Given the description of an element on the screen output the (x, y) to click on. 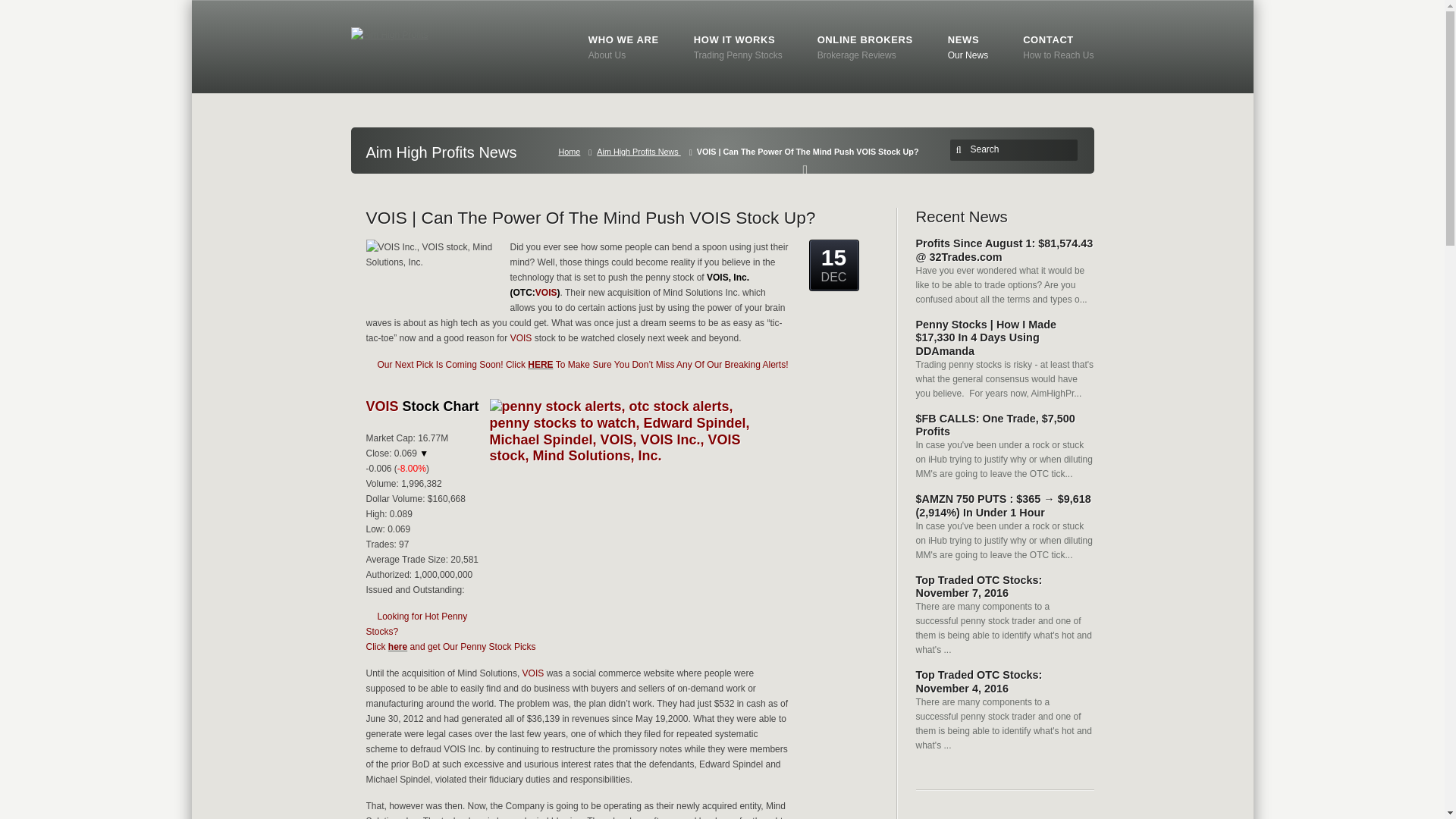
here (397, 646)
Trading Penny Stocks (864, 47)
We Know Penny Stocks (738, 47)
VOIS (397, 646)
About Aim High Profits (967, 47)
Penny Stock Alerts (738, 47)
